Given the description of an element on the screen output the (x, y) to click on. 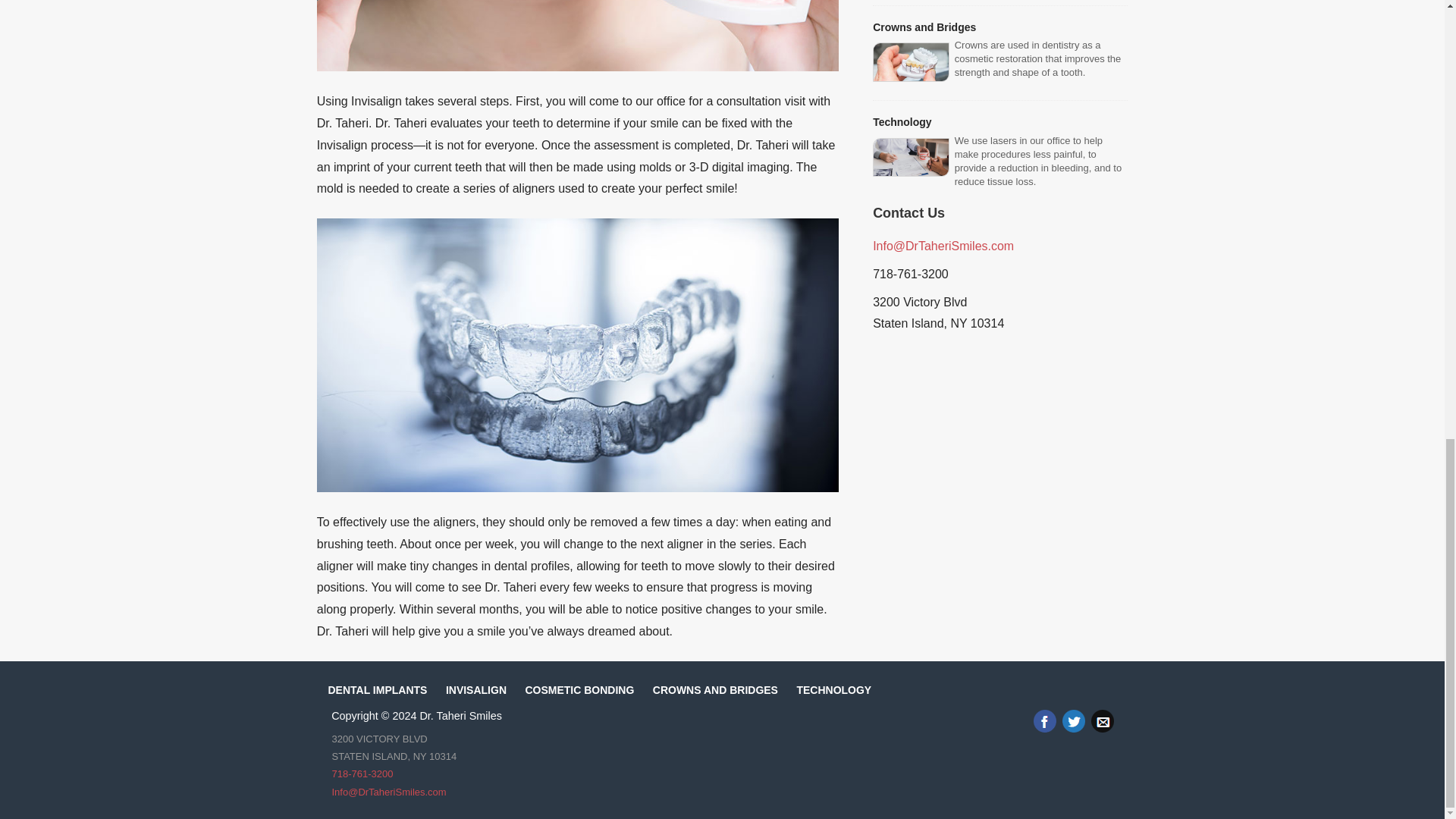
Facebook (1043, 721)
TECHNOLOGY (833, 689)
Twitter (1072, 721)
INVISALIGN (475, 689)
Mail to Us (1101, 721)
718-761-3200 (362, 773)
DENTAL IMPLANTS (376, 689)
CROWNS AND BRIDGES (714, 689)
COSMETIC BONDING (578, 689)
